Given the description of an element on the screen output the (x, y) to click on. 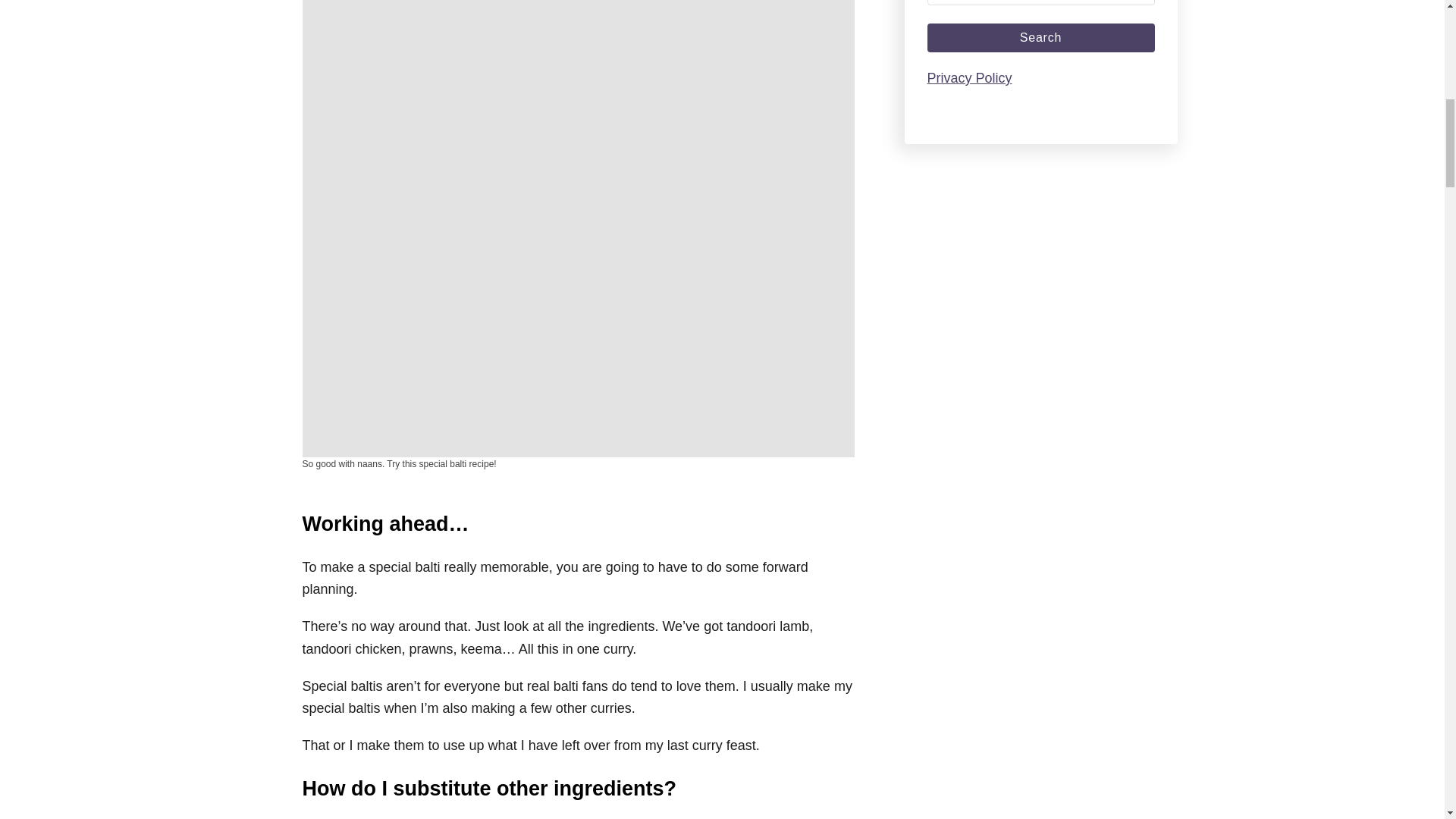
Search (1040, 37)
Search for: (1040, 2)
Search (1040, 37)
